Given the description of an element on the screen output the (x, y) to click on. 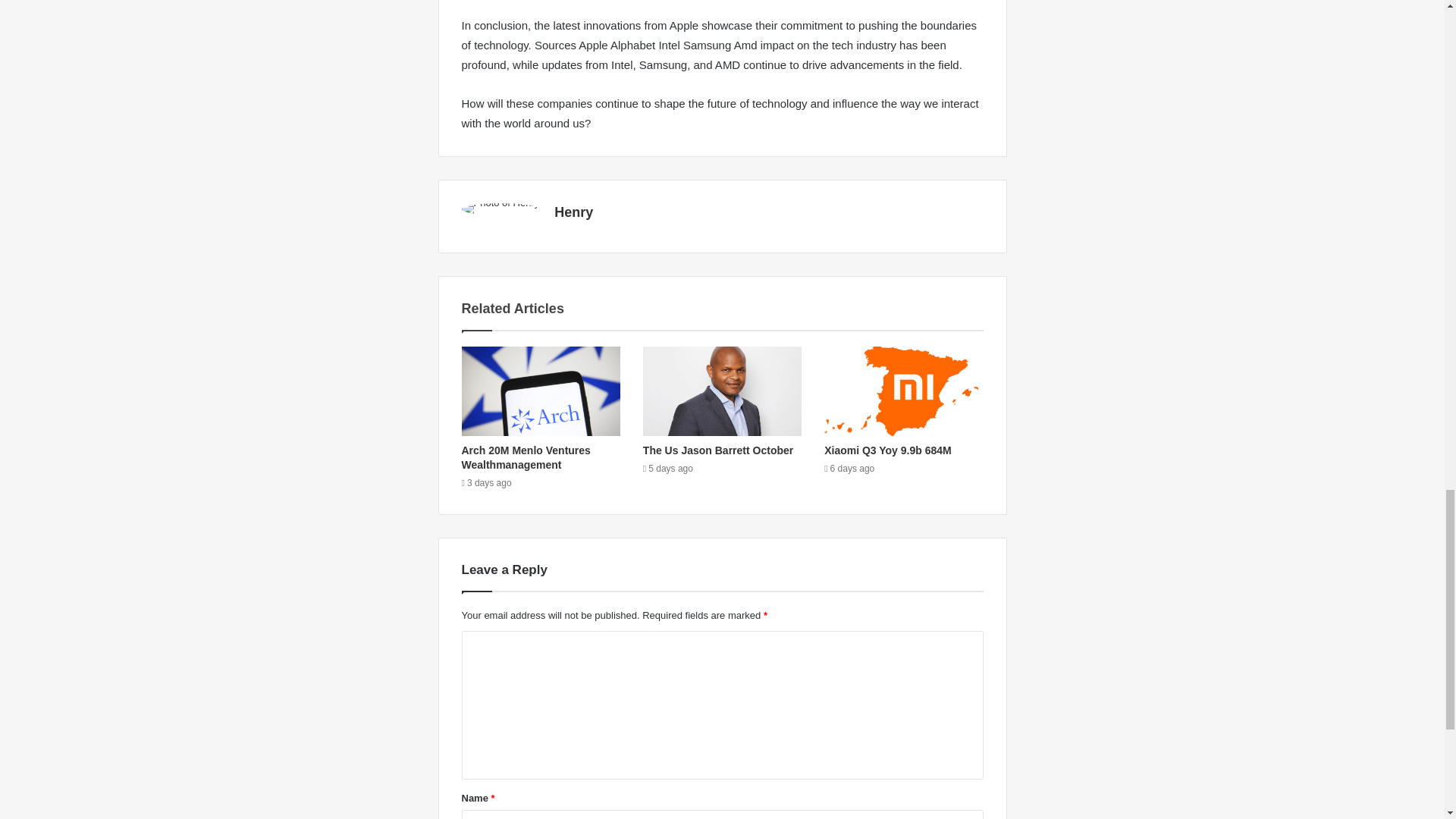
The Us Jason Barrett October (718, 450)
Henry (573, 212)
Xiaomi Q3 Yoy 9.9b 684M (888, 450)
Arch 20M Menlo Ventures Wealthmanagement (525, 457)
